Given the description of an element on the screen output the (x, y) to click on. 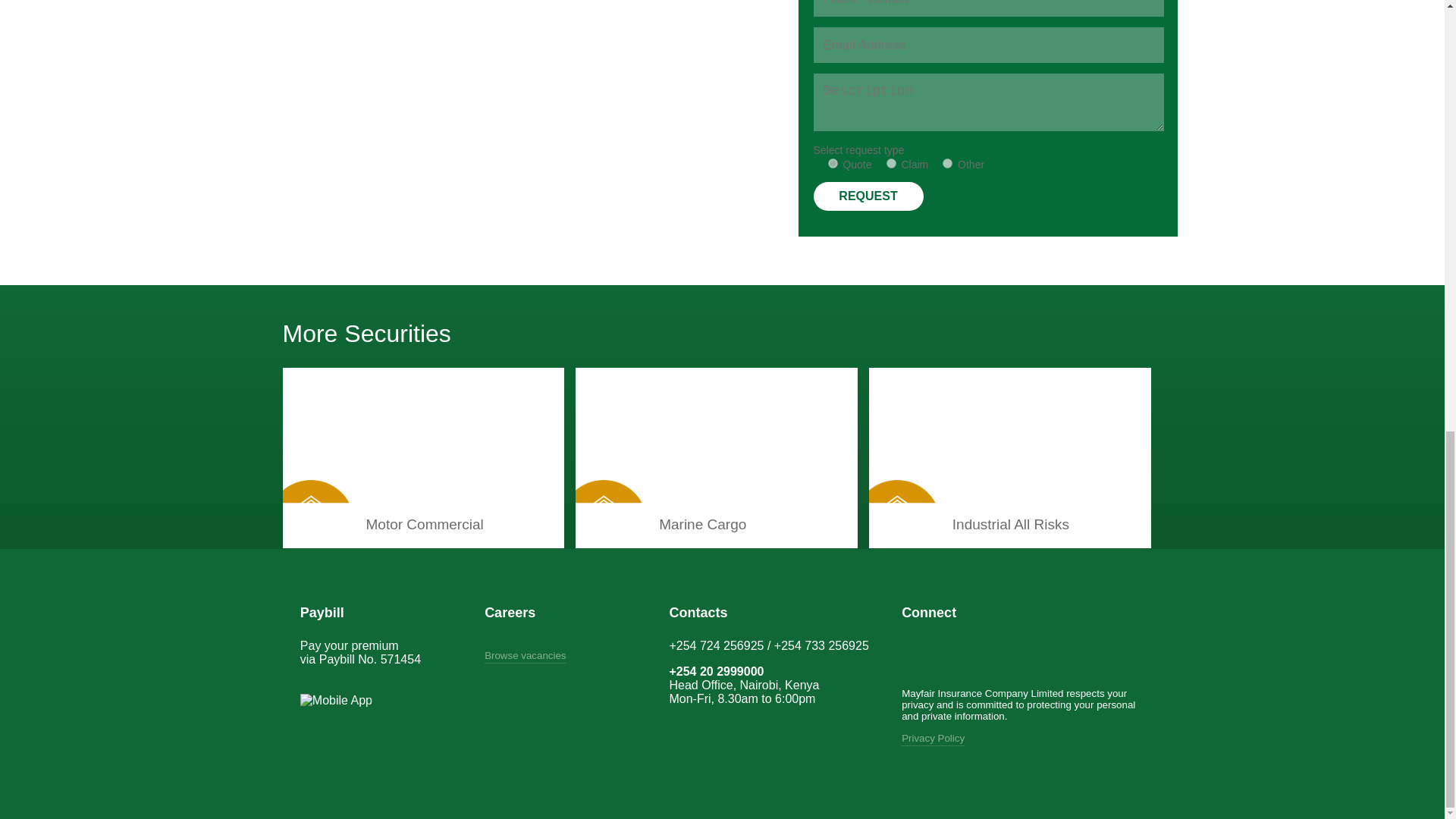
Other (947, 163)
Quote (833, 163)
Claim (891, 163)
Request (867, 195)
